Given the description of an element on the screen output the (x, y) to click on. 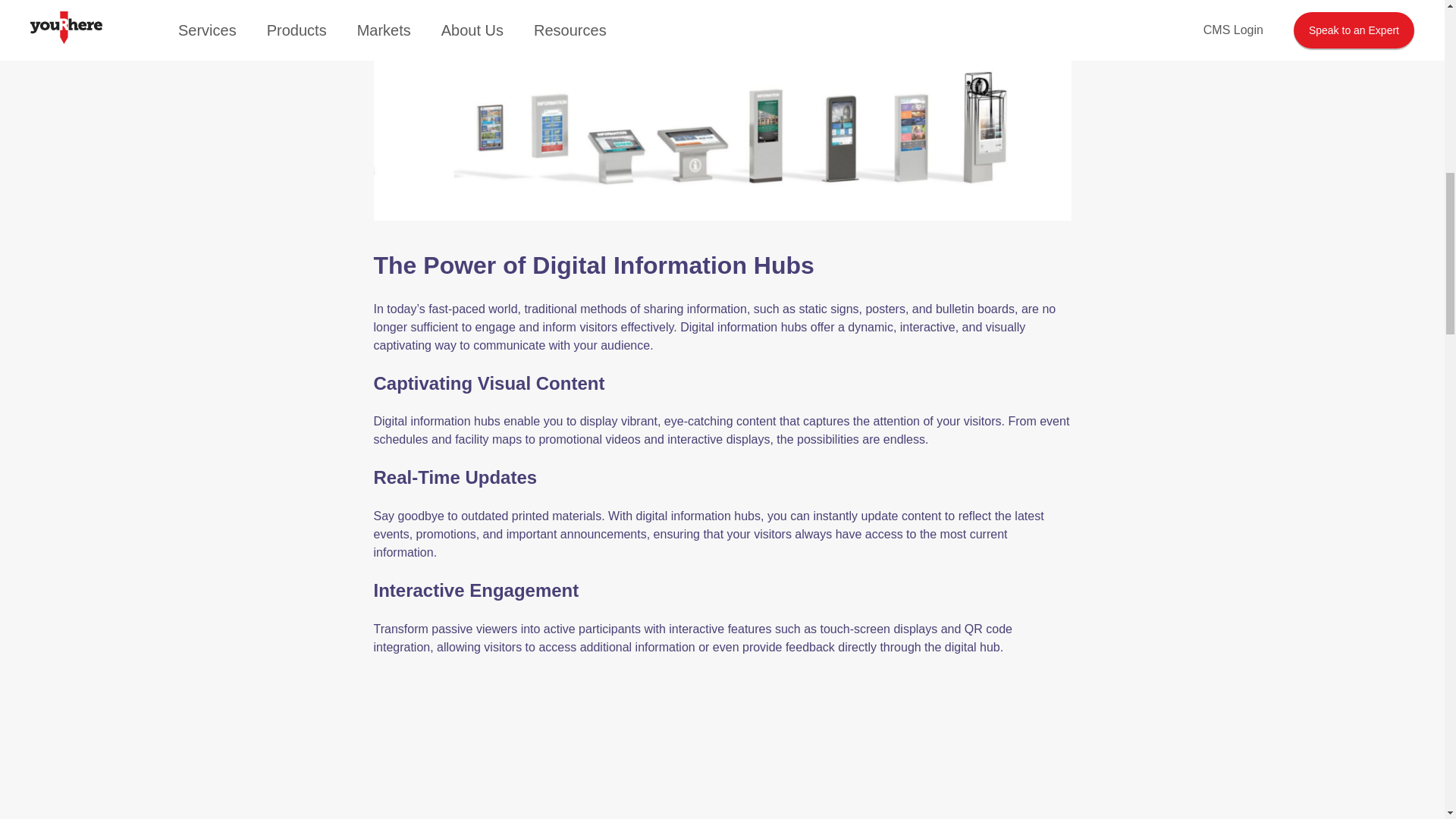
digital information hubs (985, 5)
